Given the description of an element on the screen output the (x, y) to click on. 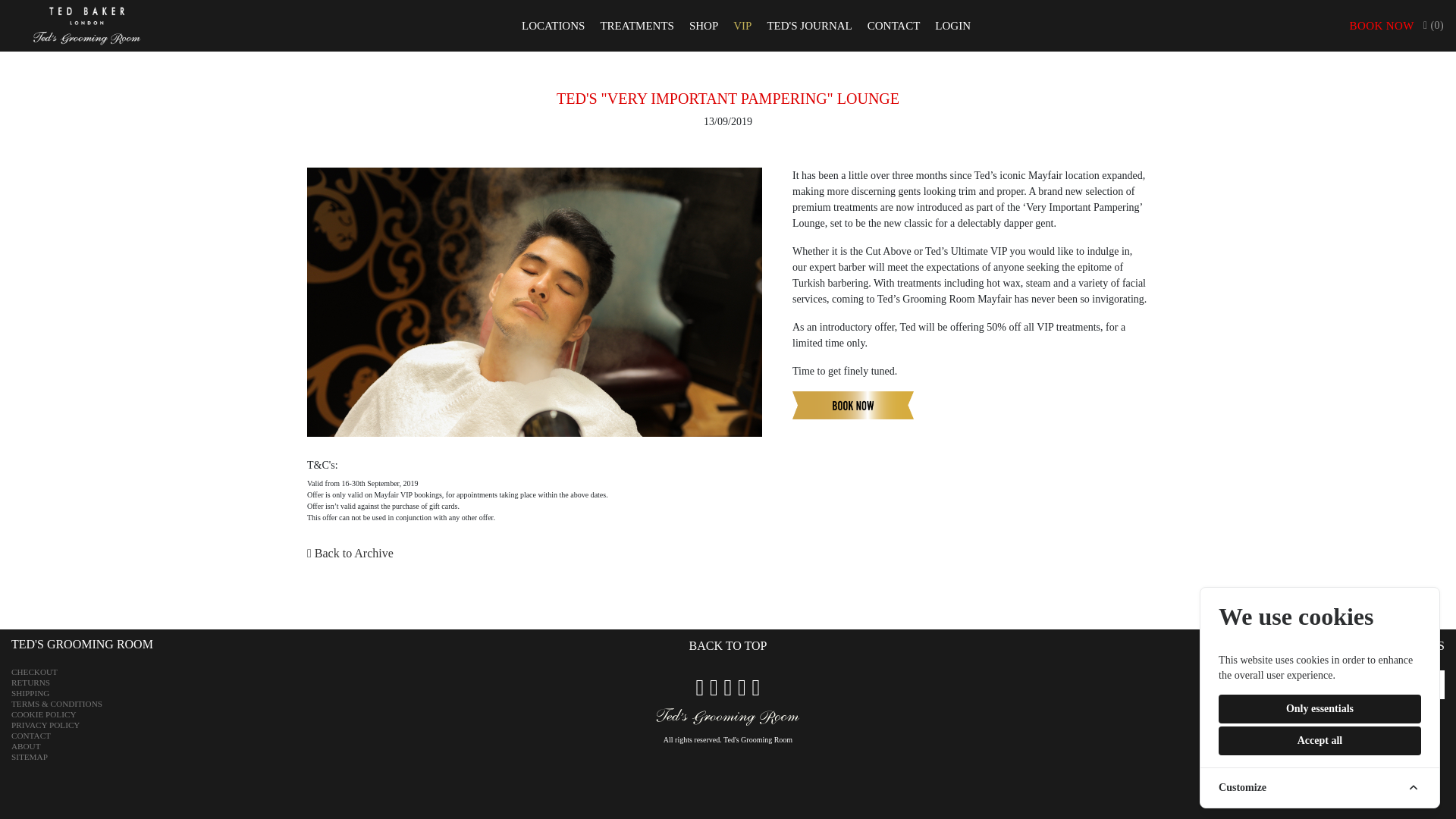
LOGIN (952, 25)
LOCATIONS (552, 25)
TREATMENTS (636, 25)
Ted's Grooming Room (757, 739)
SHOP (703, 25)
ABOUT (25, 746)
BOOK NOW (1381, 25)
COOKIE POLICY (43, 714)
Customize (1319, 787)
CHECKOUT (34, 671)
